Given the description of an element on the screen output the (x, y) to click on. 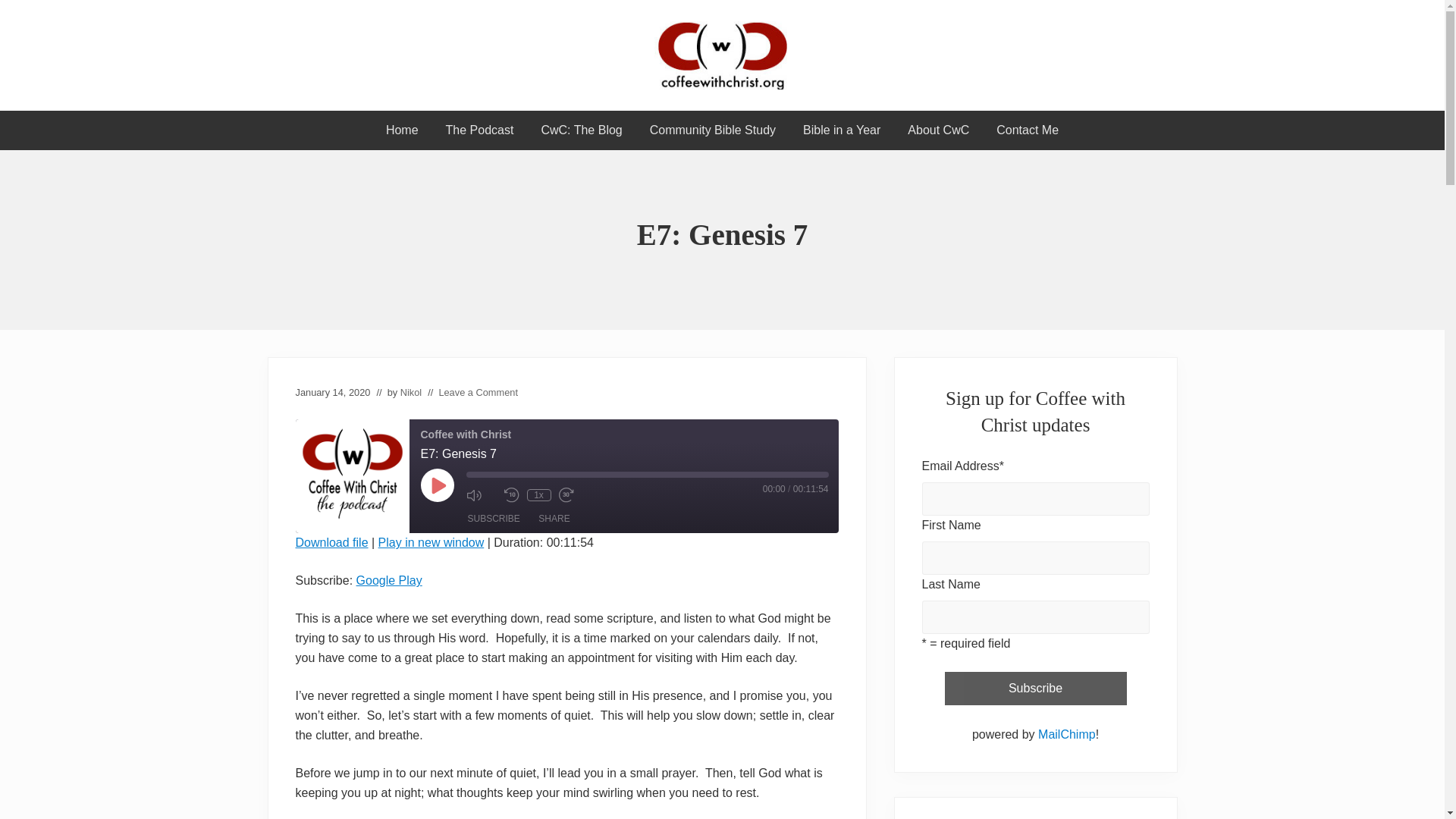
Play Episode (436, 485)
E7: Genesis 7  (331, 542)
Playback Speed (537, 494)
Fast Forward 30 seconds (572, 495)
Leave a Comment (478, 392)
Play in new window (431, 542)
Community Bible Study (712, 129)
SHARE (553, 518)
Fast Forward 30 seconds (572, 495)
Subscribe (1035, 688)
Share (553, 518)
SUBSCRIBE (493, 518)
Nikol (411, 392)
Contact Me (1026, 129)
